Given the description of an element on the screen output the (x, y) to click on. 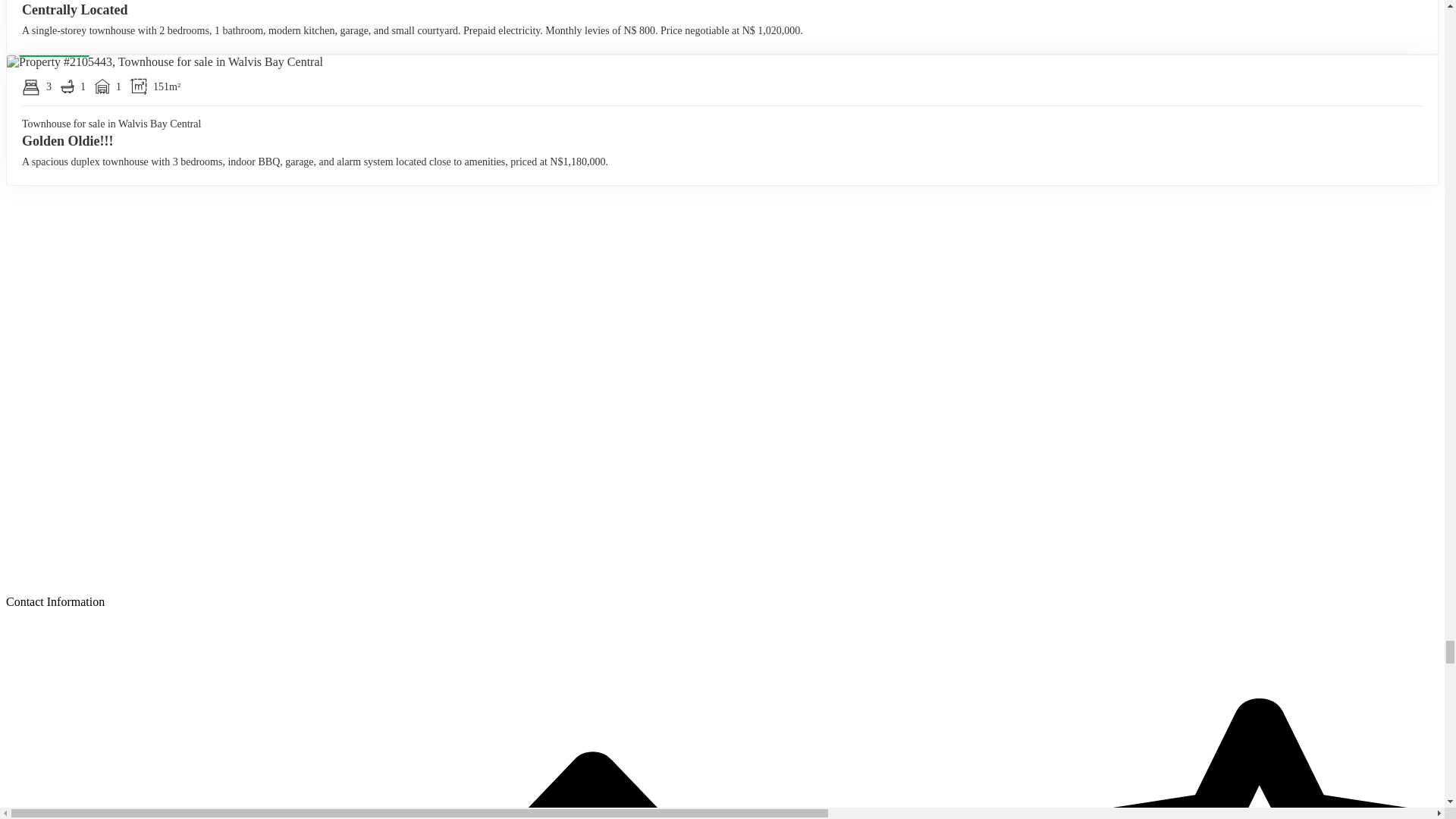
Share to WhatsApp (482, 34)
